Given the description of an element on the screen output the (x, y) to click on. 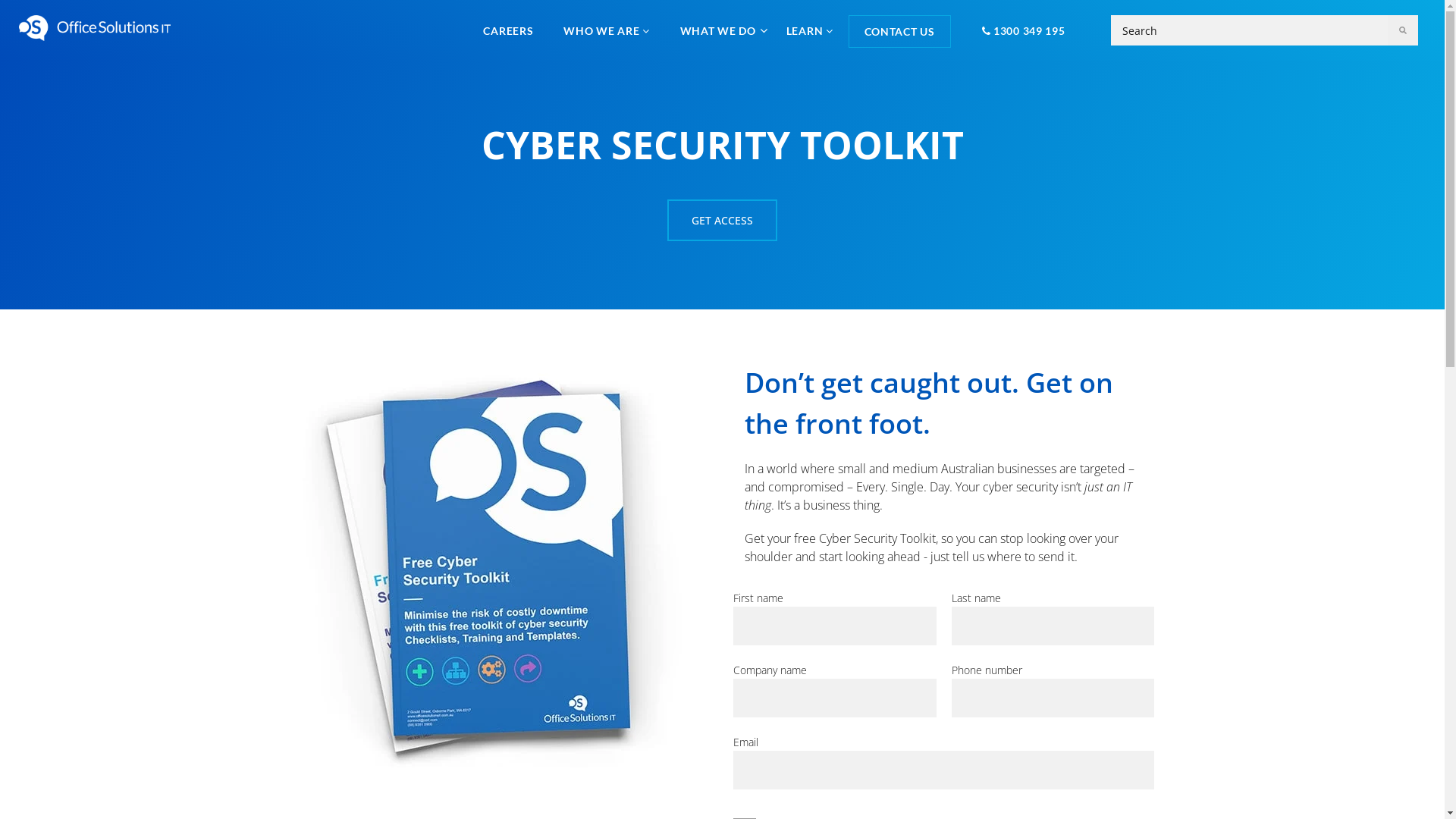
WHAT WE DO Element type: text (718, 30)
CAREERS Element type: text (507, 30)
WHO WE ARE Element type: text (606, 30)
LEARN Element type: text (809, 30)
OSIT-Logo---Horizontal---White_webnav Element type: hover (94, 27)
OSIT-Cyber-Security-Toolkit-Package-optimized-min Element type: hover (497, 564)
1300 349 195 Element type: text (1020, 30)
GET ACCESS Element type: text (722, 219)
CONTACT US Element type: text (899, 31)
